Given the description of an element on the screen output the (x, y) to click on. 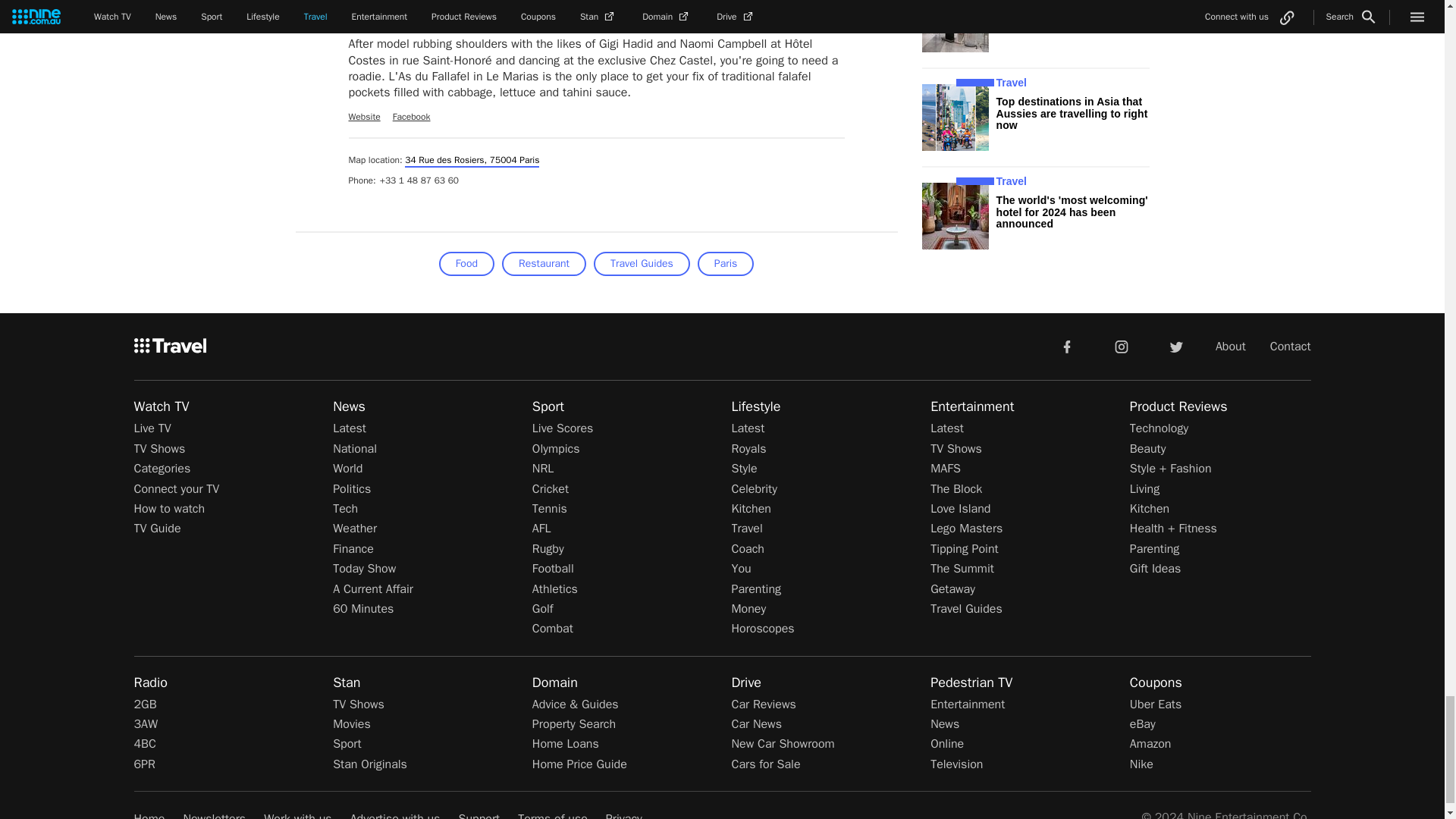
facebook (1066, 345)
twitter (1175, 345)
instagram (1121, 345)
